Given the description of an element on the screen output the (x, y) to click on. 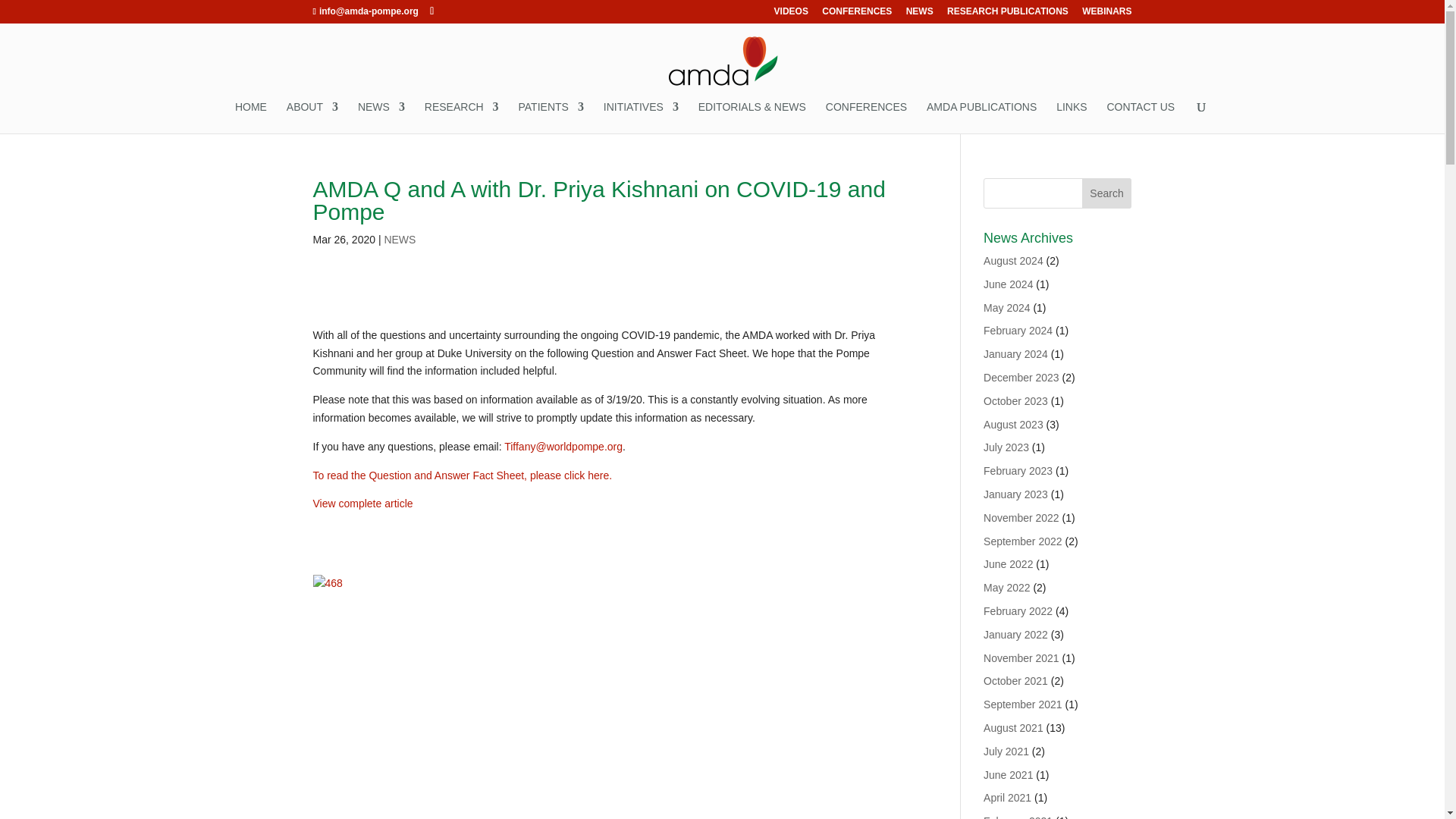
LINKS (1071, 117)
RESEARCH PUBLICATIONS (1007, 14)
CONFERENCES (866, 117)
HOME (250, 117)
RESEARCH (462, 117)
ABOUT (311, 117)
INITIATIVES (641, 117)
PATIENTS (550, 117)
CONFERENCES (856, 14)
NEWS (381, 117)
